Given the description of an element on the screen output the (x, y) to click on. 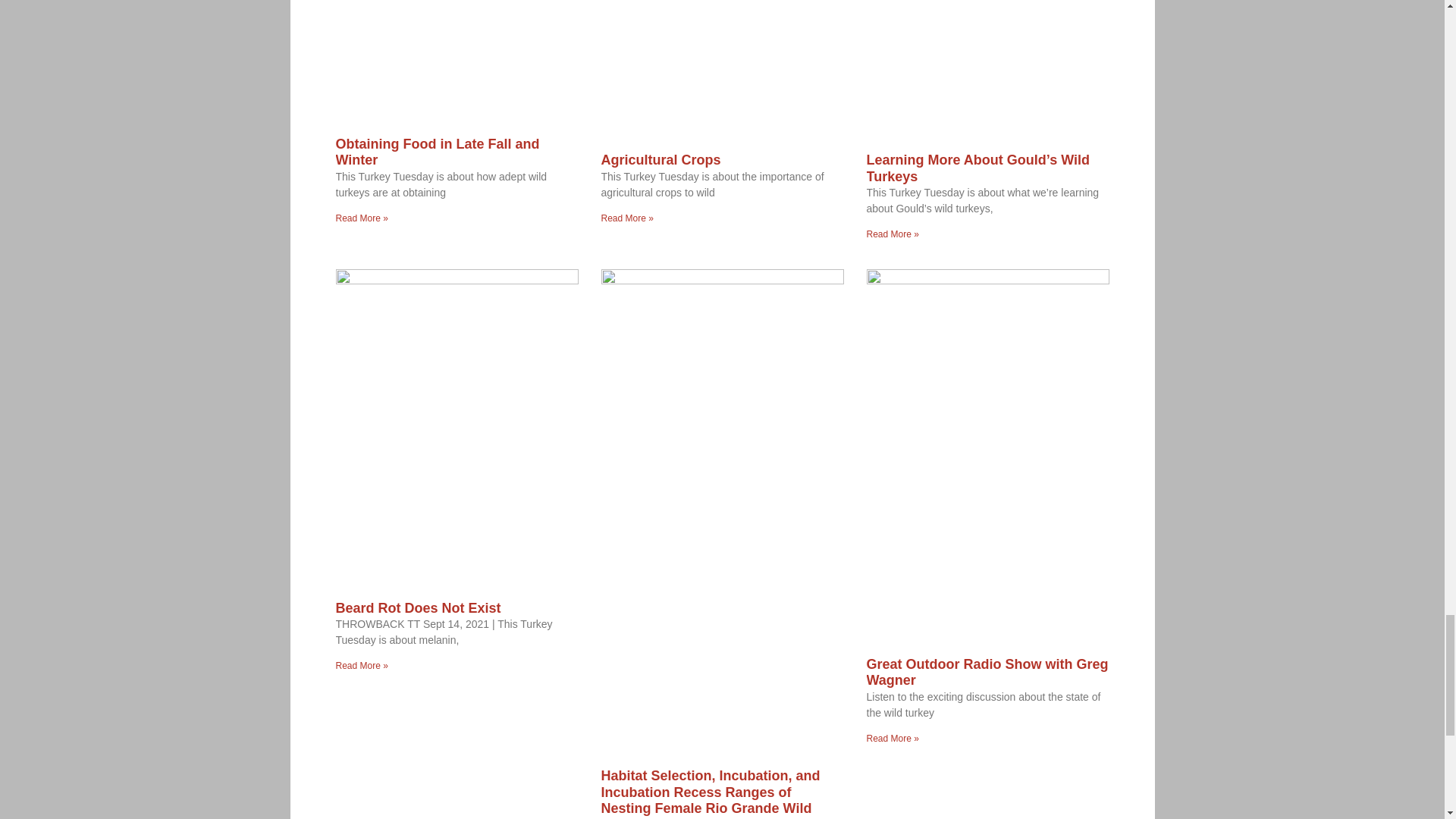
Great Outdoor Radio Show with Greg Wagner (987, 672)
Agricultural Crops (659, 159)
Beard Rot Does Not Exist (417, 607)
Obtaining Food in Late Fall and Winter (436, 152)
